Given the description of an element on the screen output the (x, y) to click on. 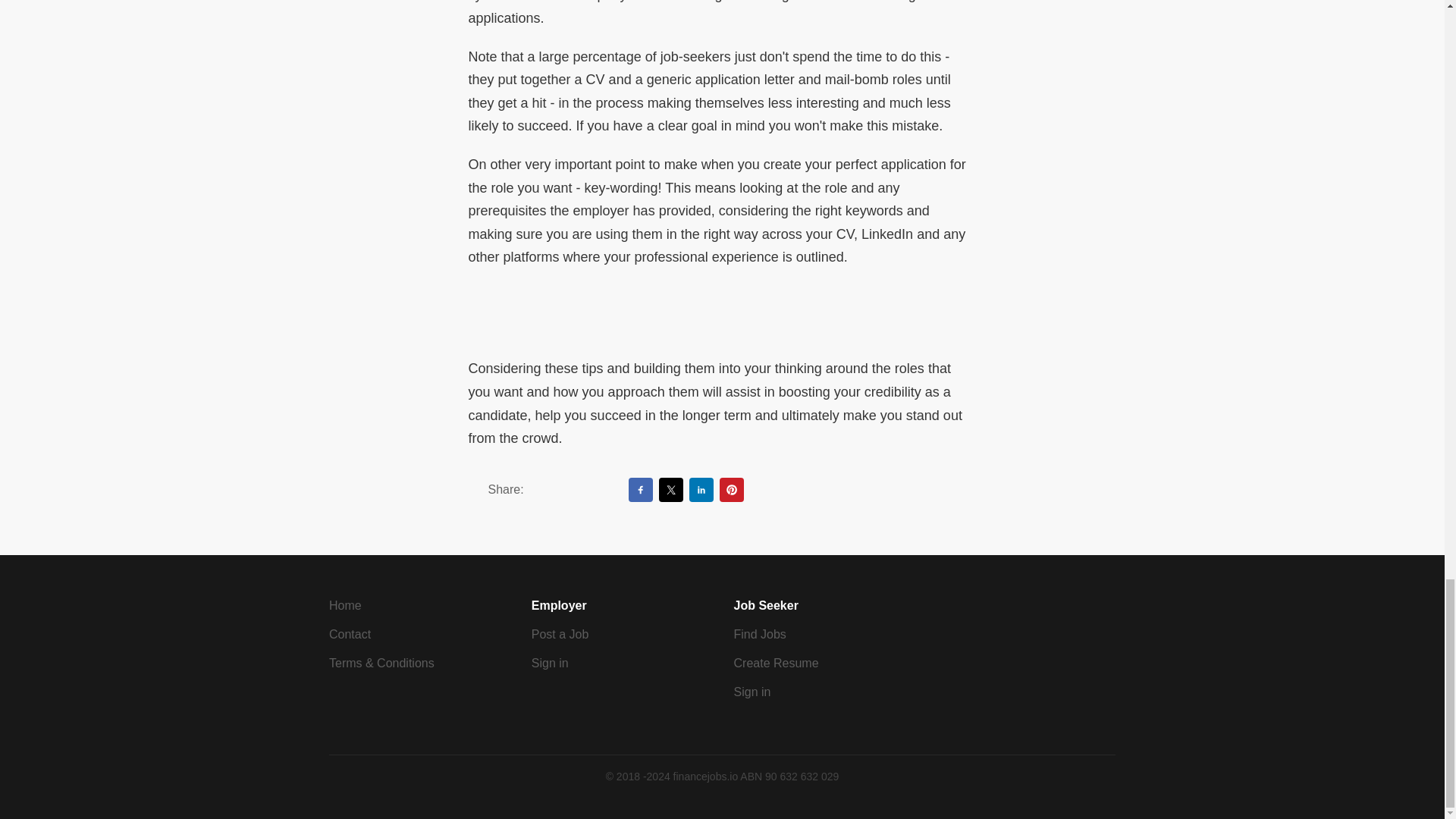
Get In Touch (350, 634)
Create Resume (775, 662)
Contact (350, 634)
Post a Job (560, 634)
Sign in (550, 662)
Find Jobs (759, 634)
Home (345, 604)
Sign in (752, 691)
